Given the description of an element on the screen output the (x, y) to click on. 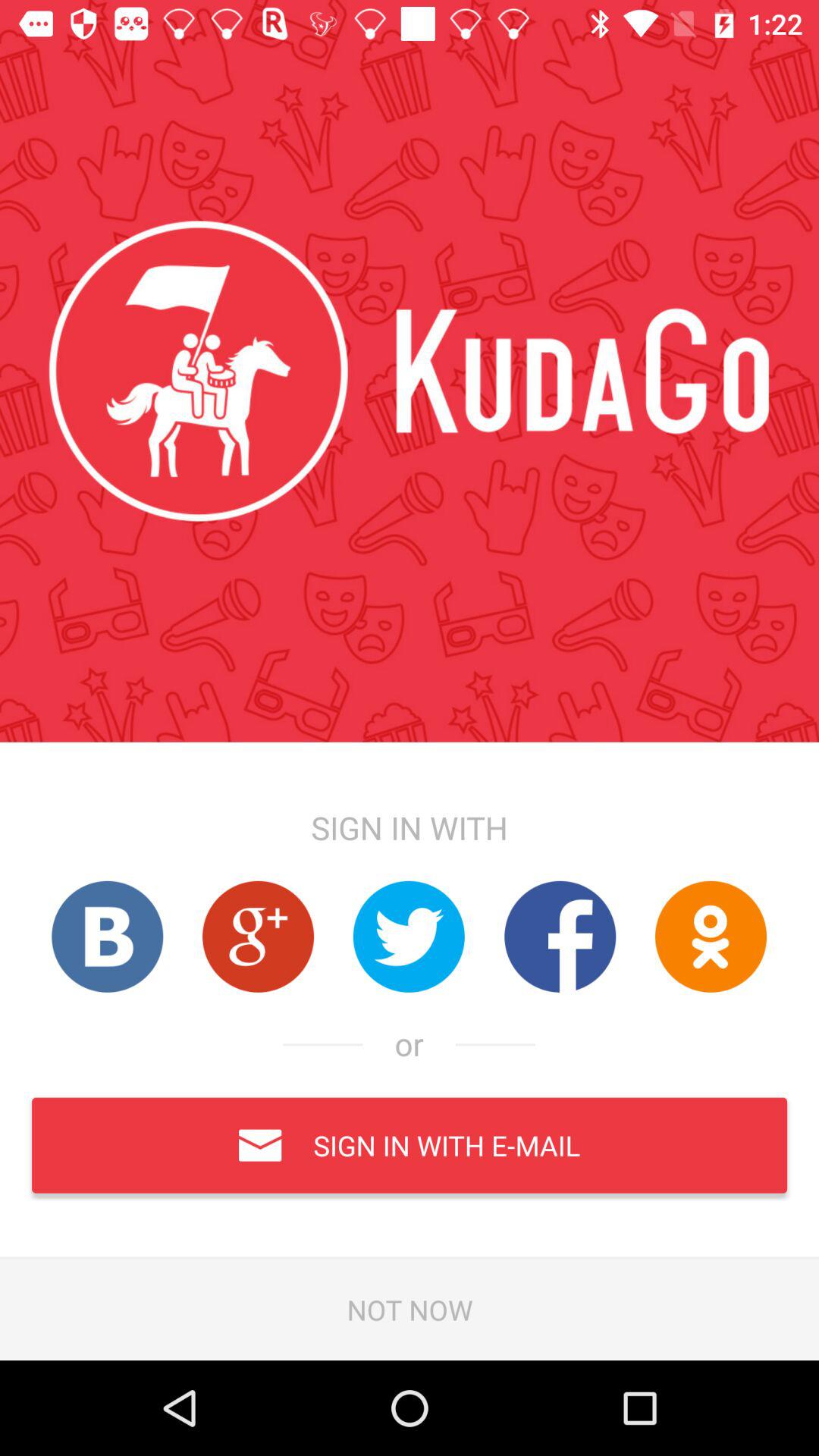
open the webiste (559, 936)
